Given the description of an element on the screen output the (x, y) to click on. 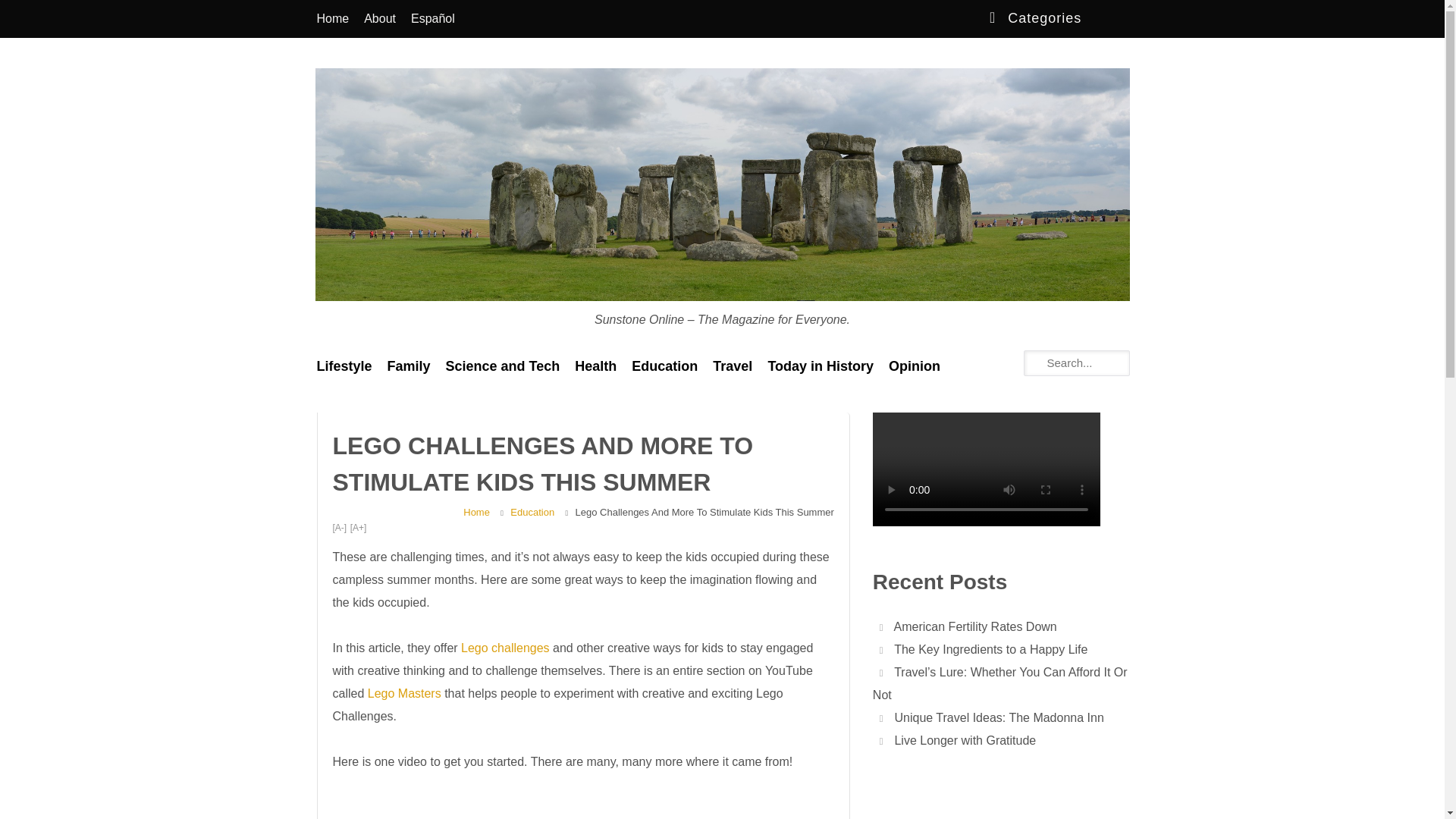
Education (664, 366)
Family (409, 366)
Opinion (913, 366)
Sunstone Online (363, 330)
Home (332, 18)
Health (595, 366)
About (379, 18)
Increase Font Size (358, 528)
Lego Masters (402, 693)
Lifestyle (344, 366)
